Given the description of an element on the screen output the (x, y) to click on. 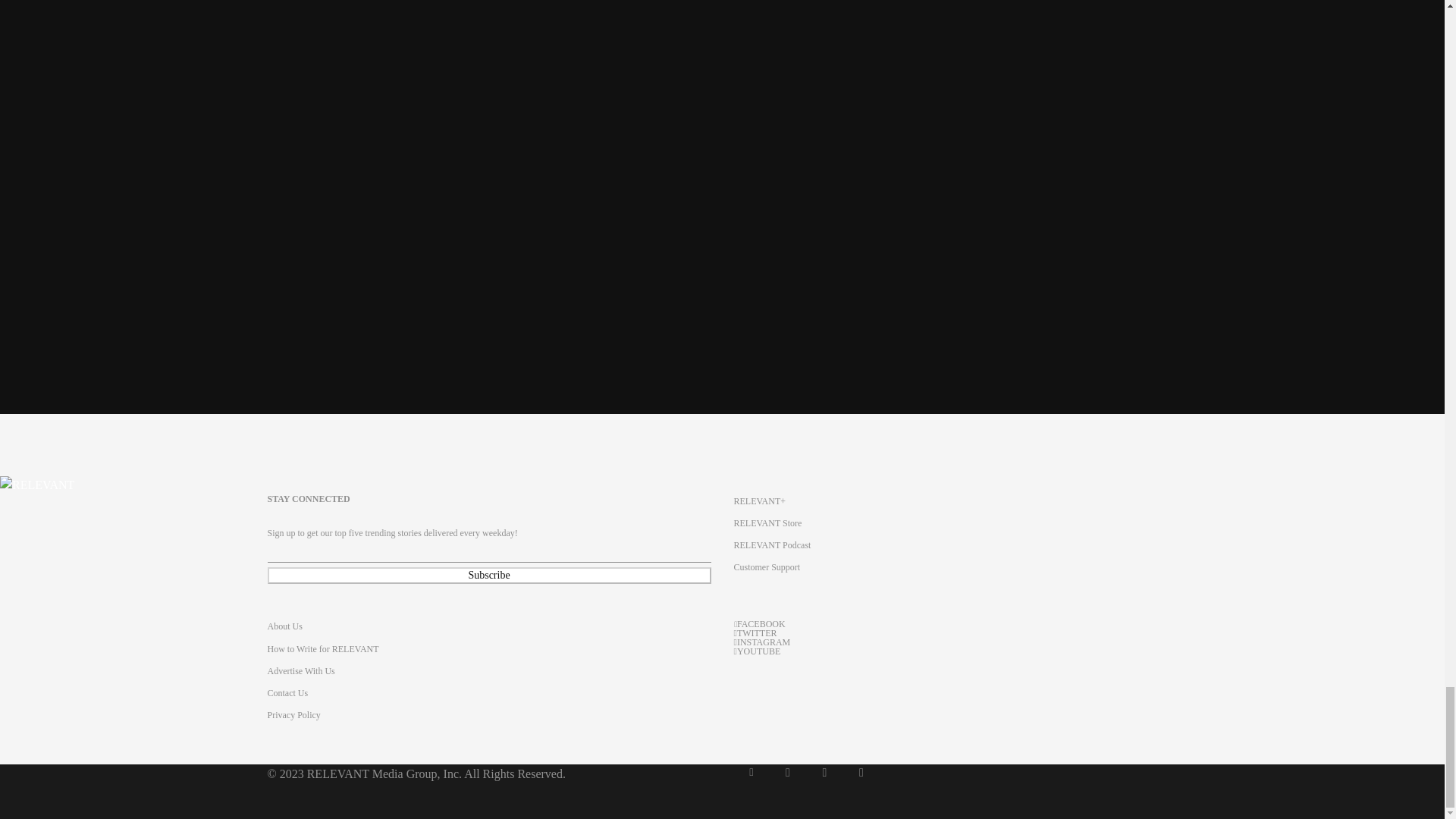
Subscribe (488, 575)
